Given the description of an element on the screen output the (x, y) to click on. 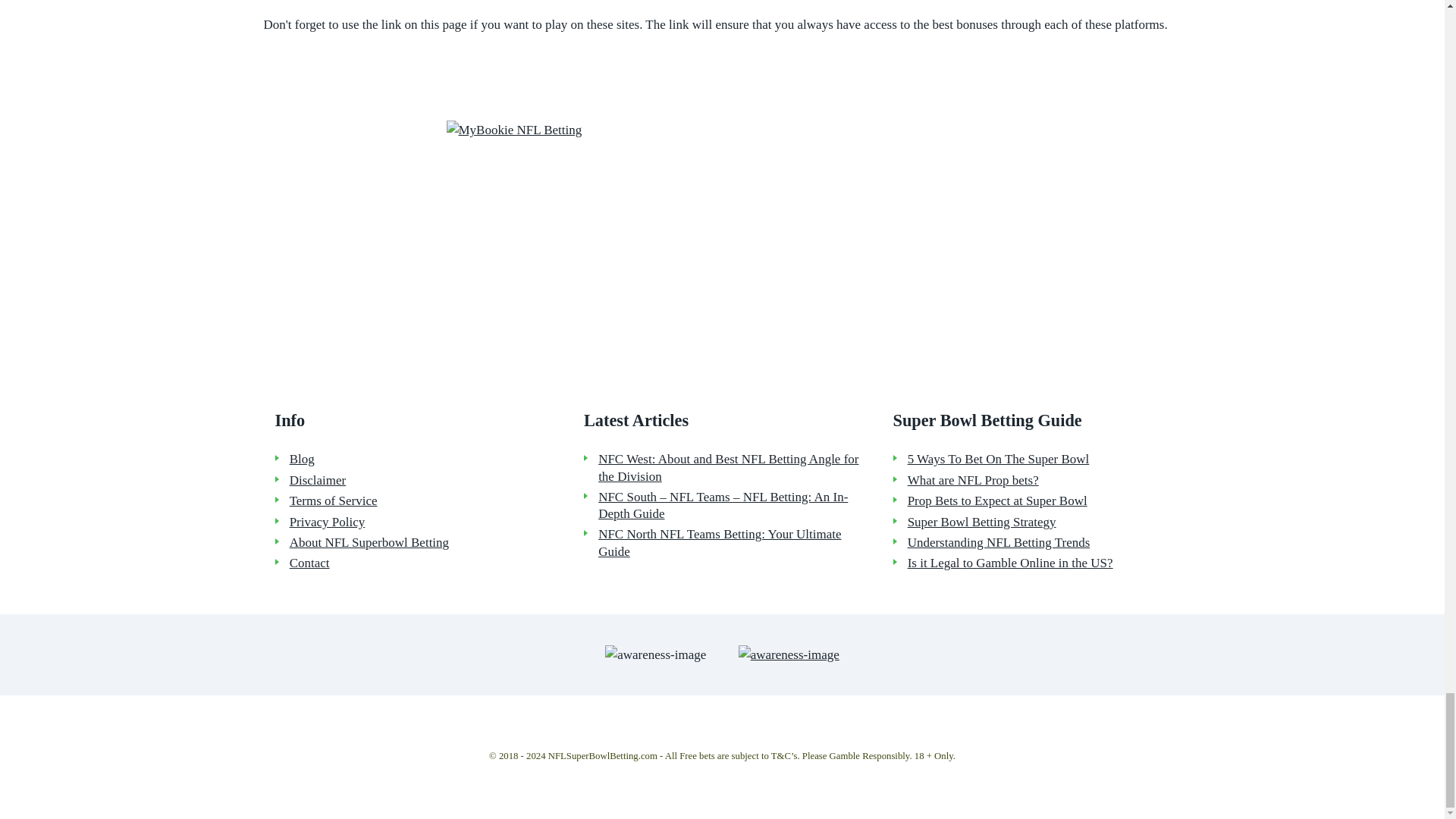
Betting Apps 5 (721, 234)
